Given the description of an element on the screen output the (x, y) to click on. 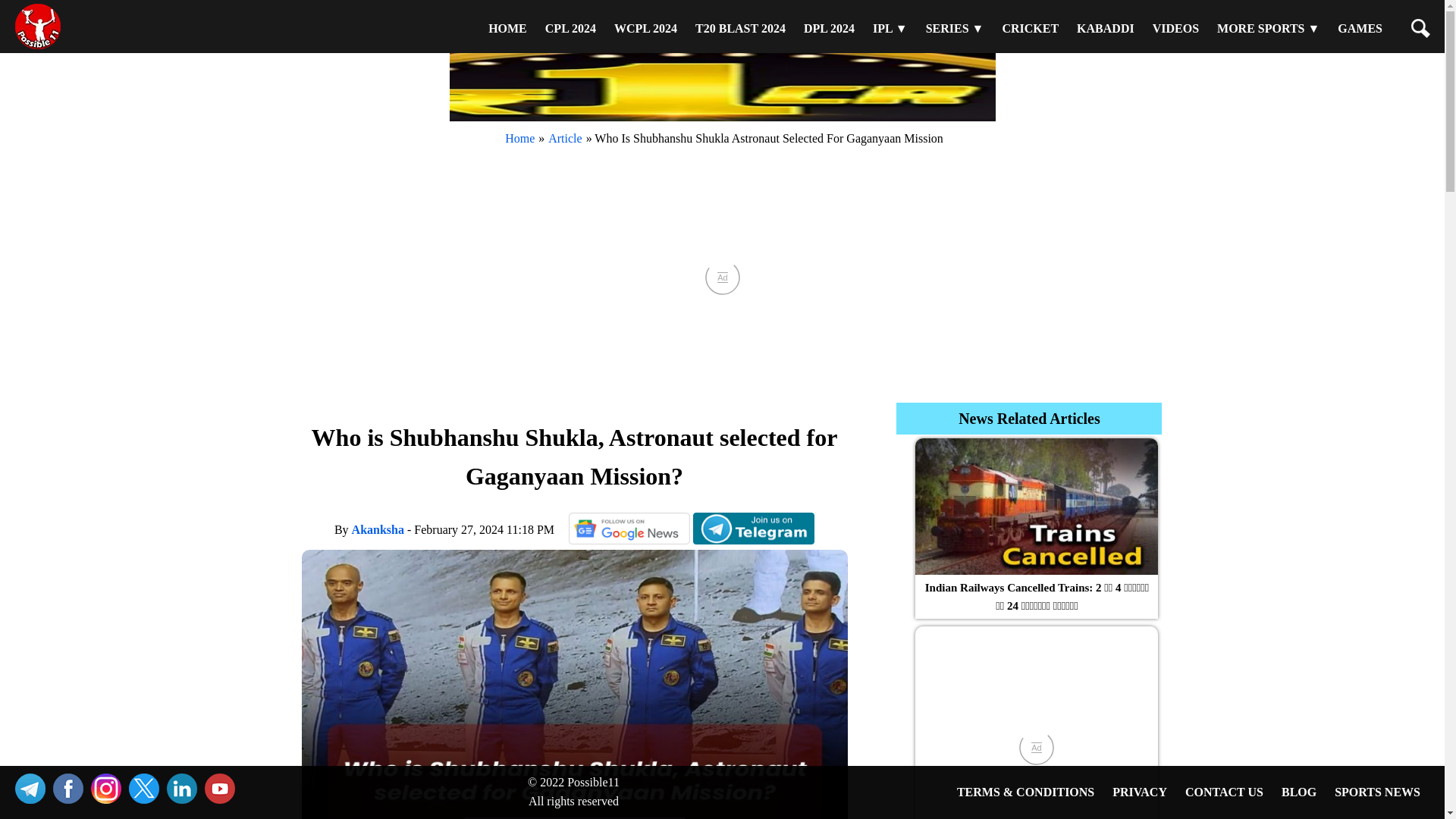
CricLink Prediction (1029, 28)
Possible 11 (507, 28)
Kabaddi Prediction (1104, 28)
T20 BLAST 2024 (740, 28)
HOME (507, 28)
WCPL 2024 (645, 28)
DPL 2024 (828, 28)
Series (954, 28)
IPL Series (889, 28)
CPL 2024 (570, 28)
